Given the description of an element on the screen output the (x, y) to click on. 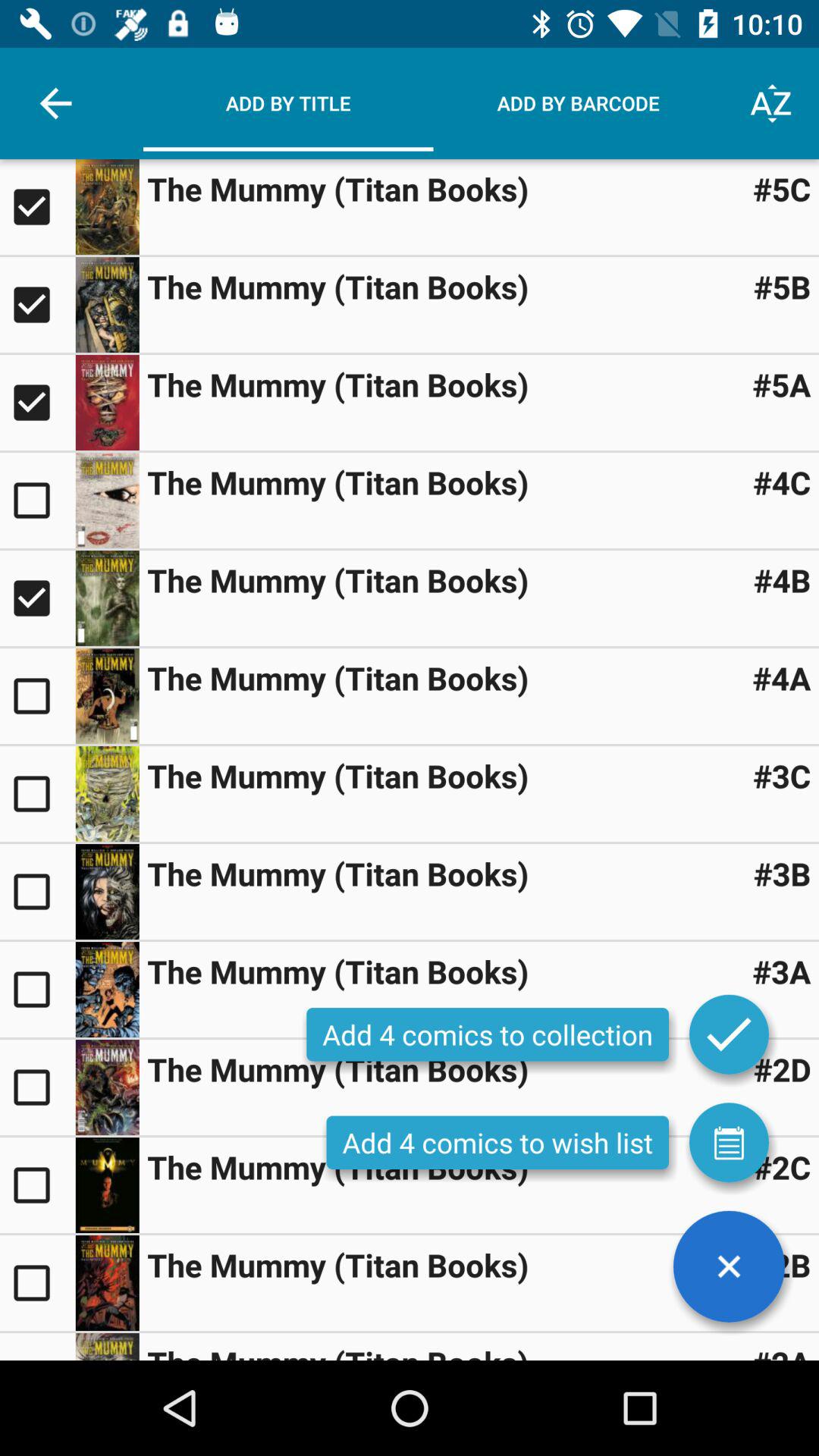
open icon next to add by barcode item (771, 103)
